Given the description of an element on the screen output the (x, y) to click on. 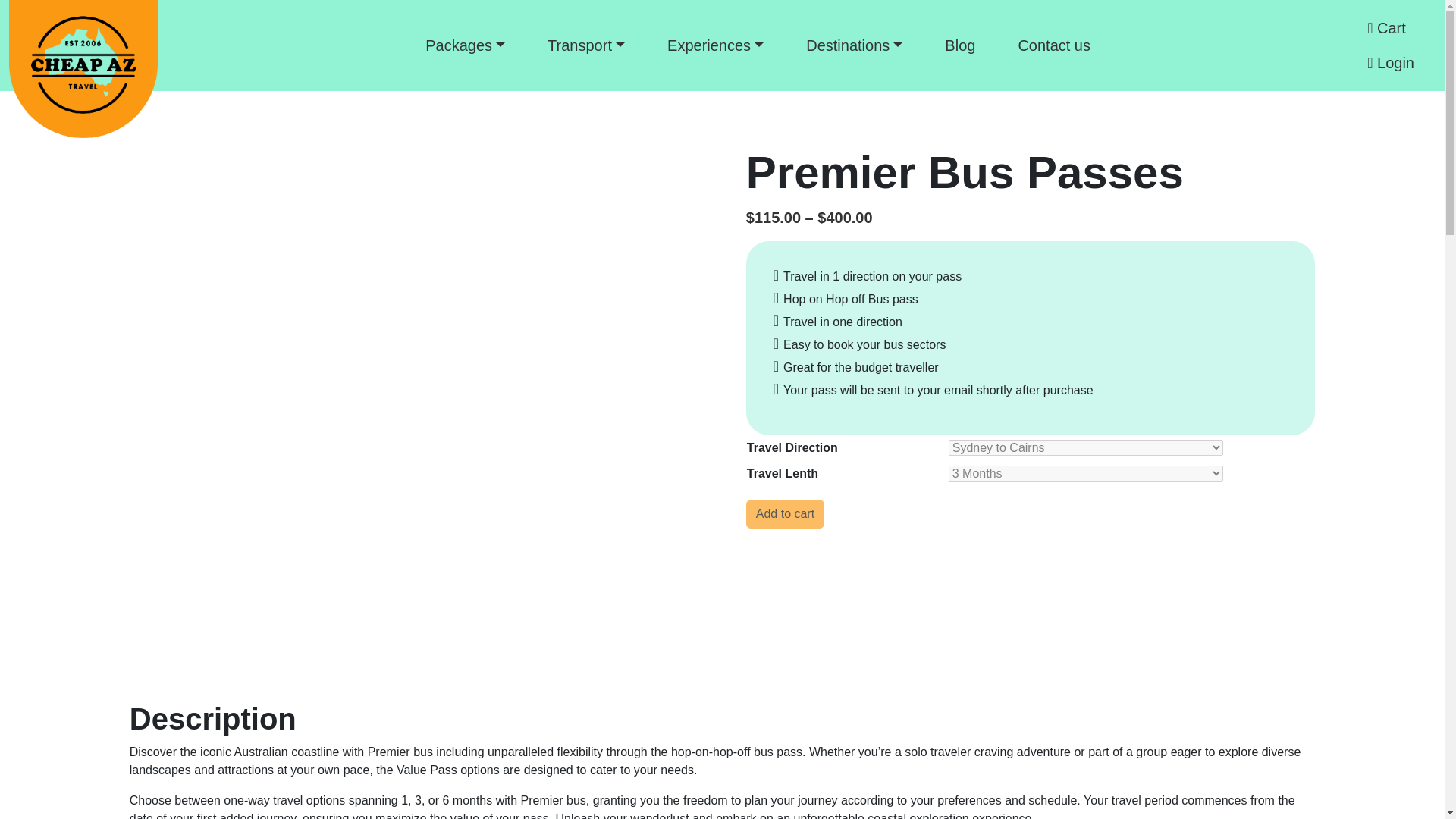
Transport (585, 45)
Destinations (853, 45)
Experiences (715, 45)
Packages (465, 45)
Experiences (715, 45)
Packages (465, 45)
Transport (585, 45)
